Given the description of an element on the screen output the (x, y) to click on. 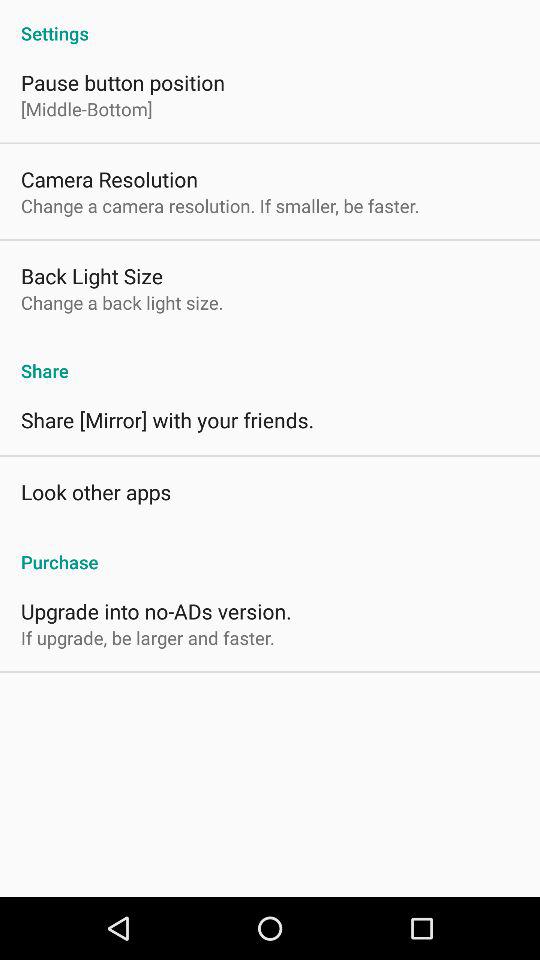
turn off app below the look other apps (270, 551)
